Given the description of an element on the screen output the (x, y) to click on. 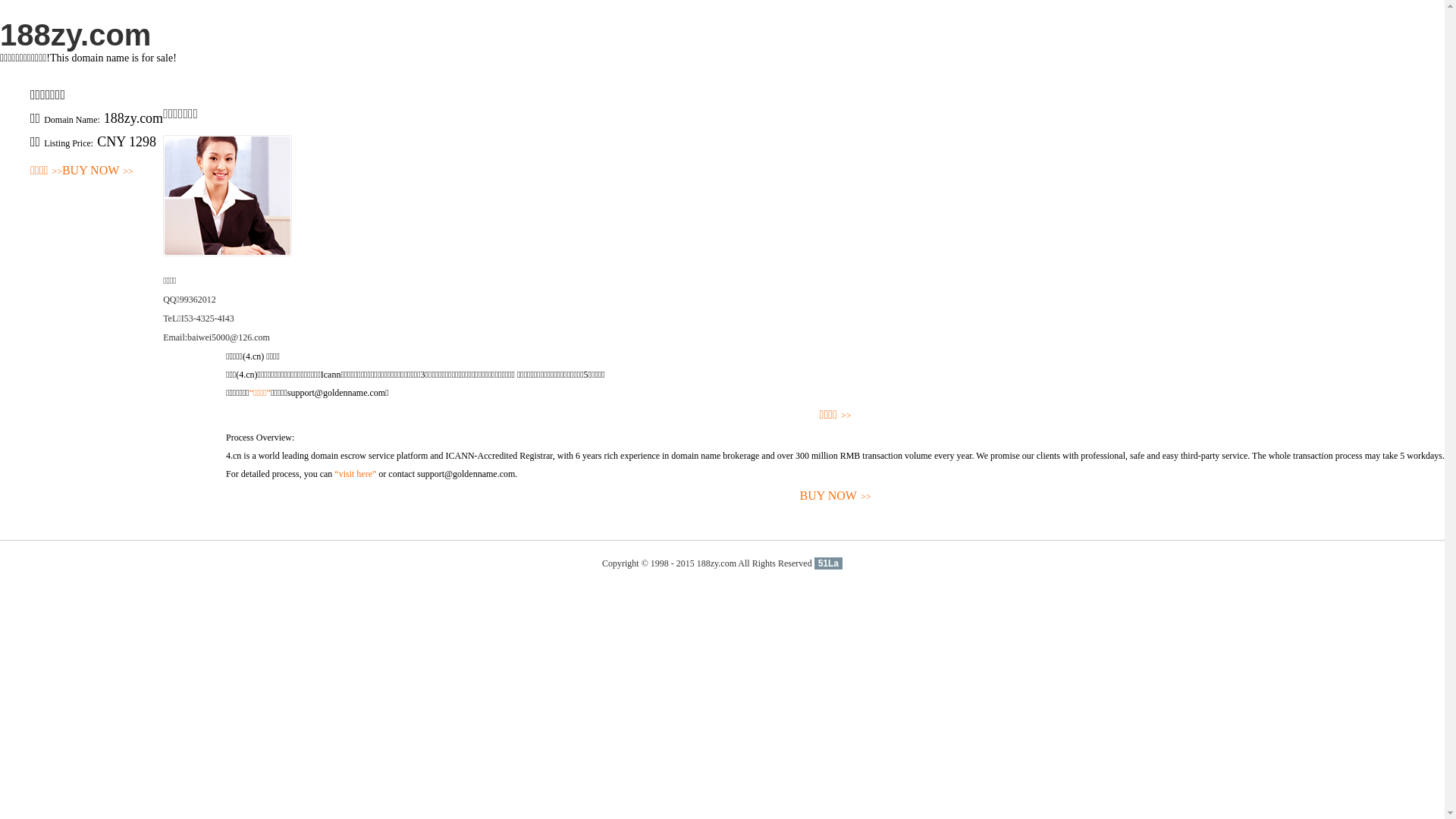
51La Element type: text (828, 563)
BUY NOW>> Element type: text (834, 496)
BUY NOW>> Element type: text (97, 170)
